Given the description of an element on the screen output the (x, y) to click on. 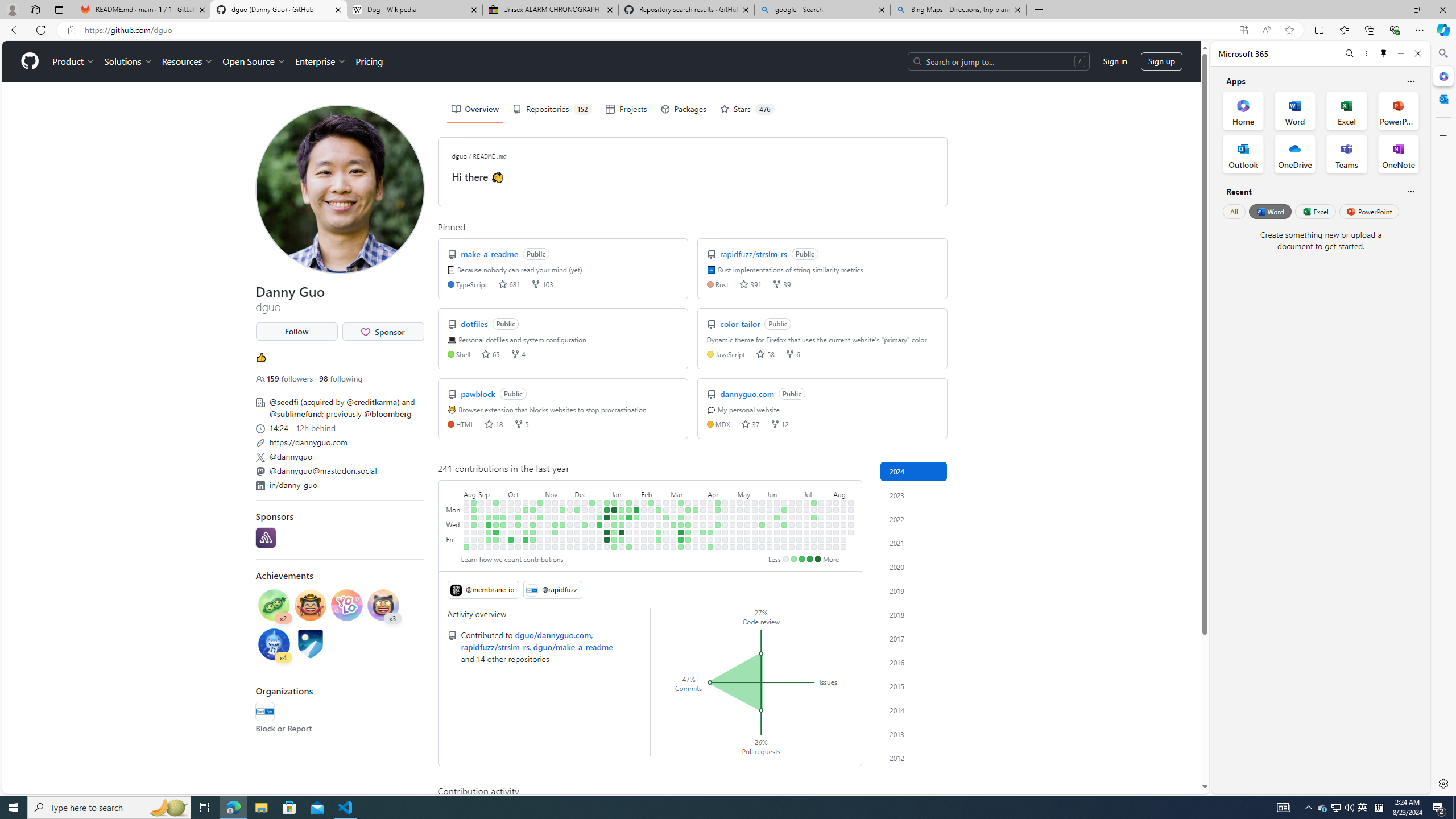
No contributions on August 25th. (466, 539)
stars 58 (764, 353)
forks (775, 424)
1 contribution on November 20th. (562, 509)
No contributions on August 22nd. (850, 531)
3 contributions on January 27th. (628, 546)
2 contributions on August 27th. (473, 502)
1 contribution on February 19th. (658, 509)
 @membrane-io (482, 588)
@dguo (263, 54)
No contributions on March 3rd. (674, 502)
1 contribution on October 23rd. (532, 509)
Achievement: Pair Extraordinaire (273, 605)
